Given the description of an element on the screen output the (x, y) to click on. 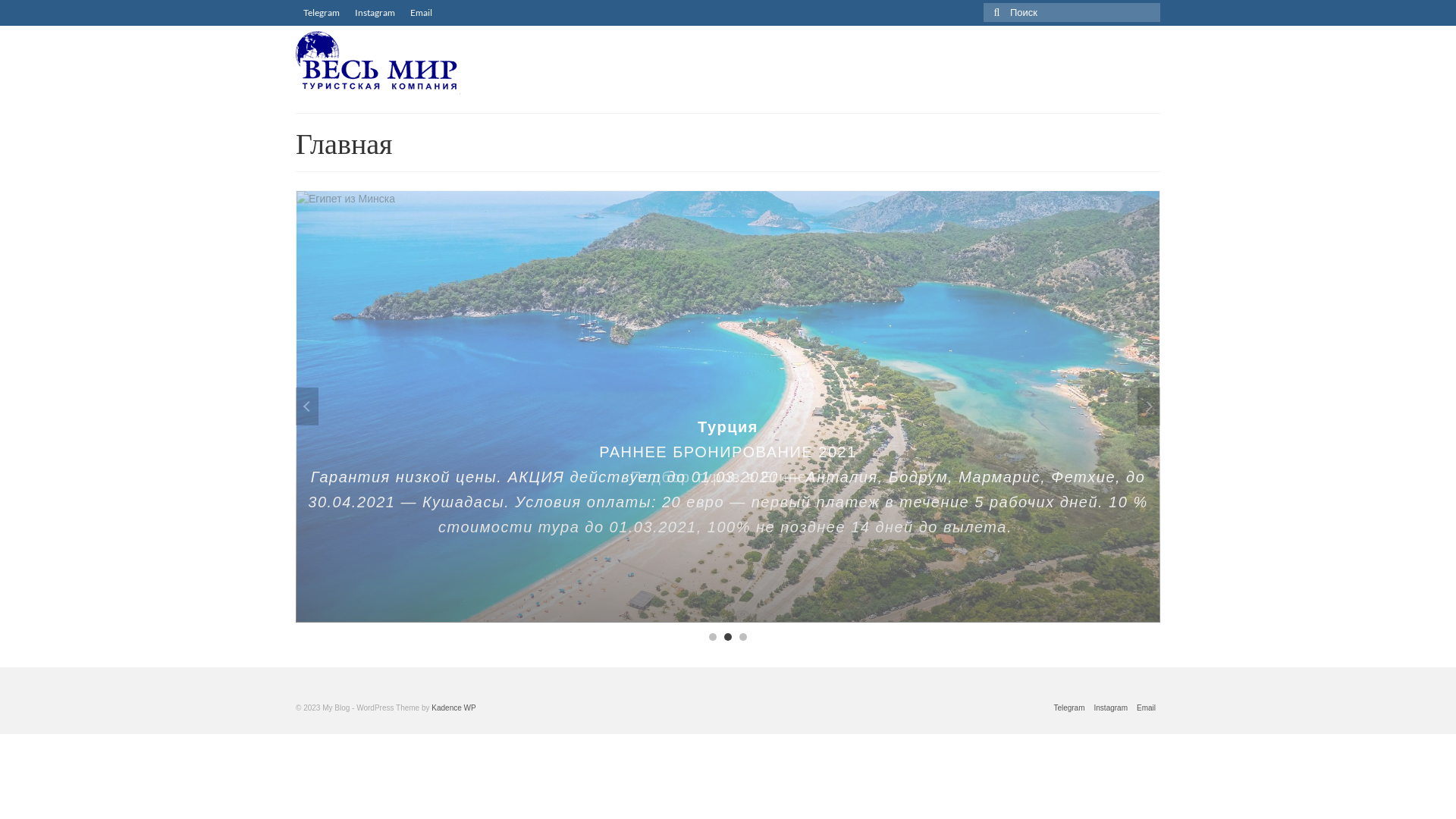
Instagram Element type: text (374, 12)
Previous Element type: text (306, 406)
Instagram Element type: text (1110, 707)
Email Element type: text (420, 12)
2 Element type: text (727, 636)
Next Element type: text (1148, 406)
Telegram Element type: text (1068, 707)
1 Element type: text (712, 636)
Email Element type: text (1146, 707)
3 Element type: text (742, 636)
Telegram Element type: text (321, 12)
Kadence WP Element type: text (453, 707)
